Given the description of an element on the screen output the (x, y) to click on. 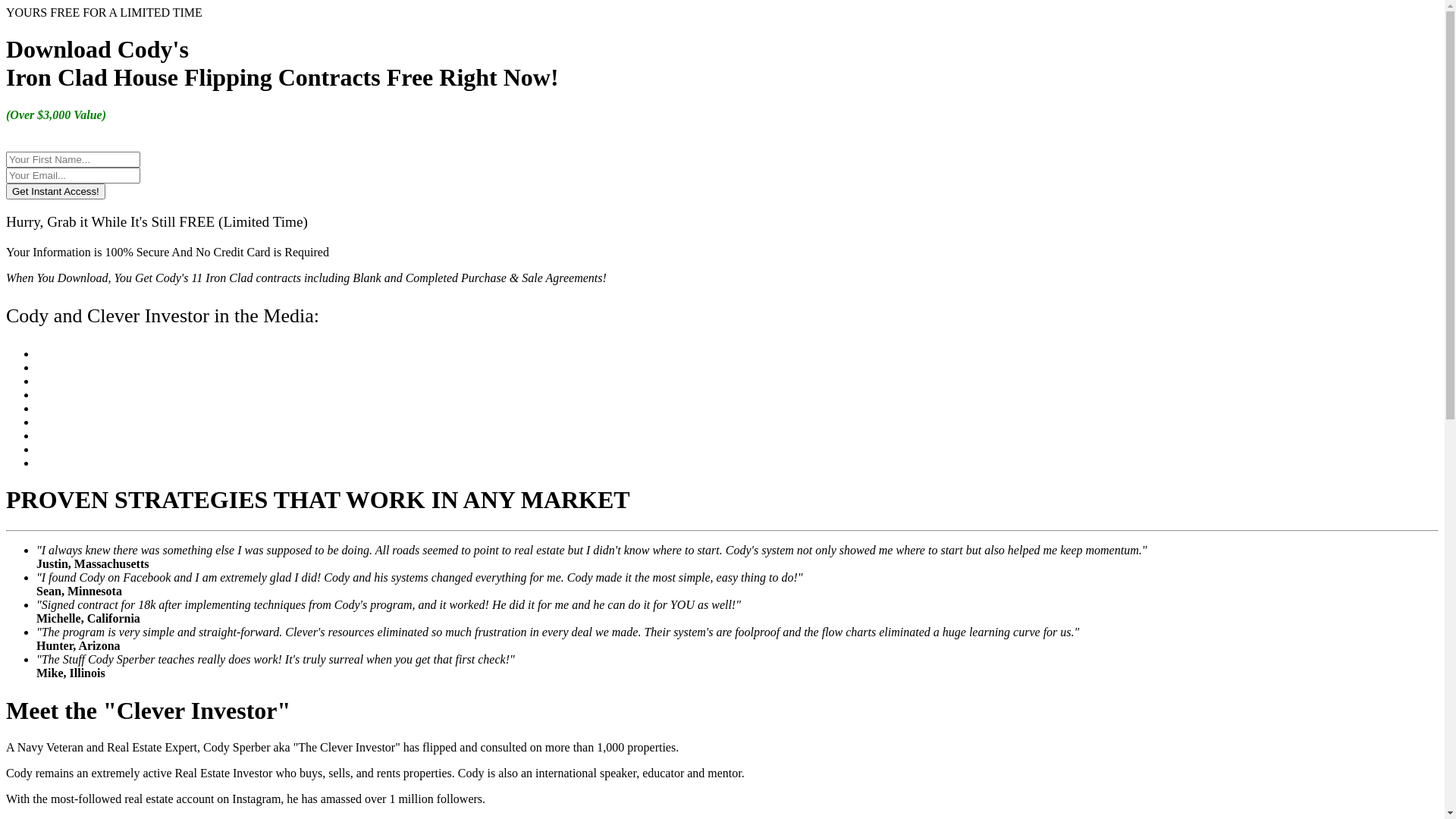
Get Instant Access! Element type: text (55, 191)
